Given the description of an element on the screen output the (x, y) to click on. 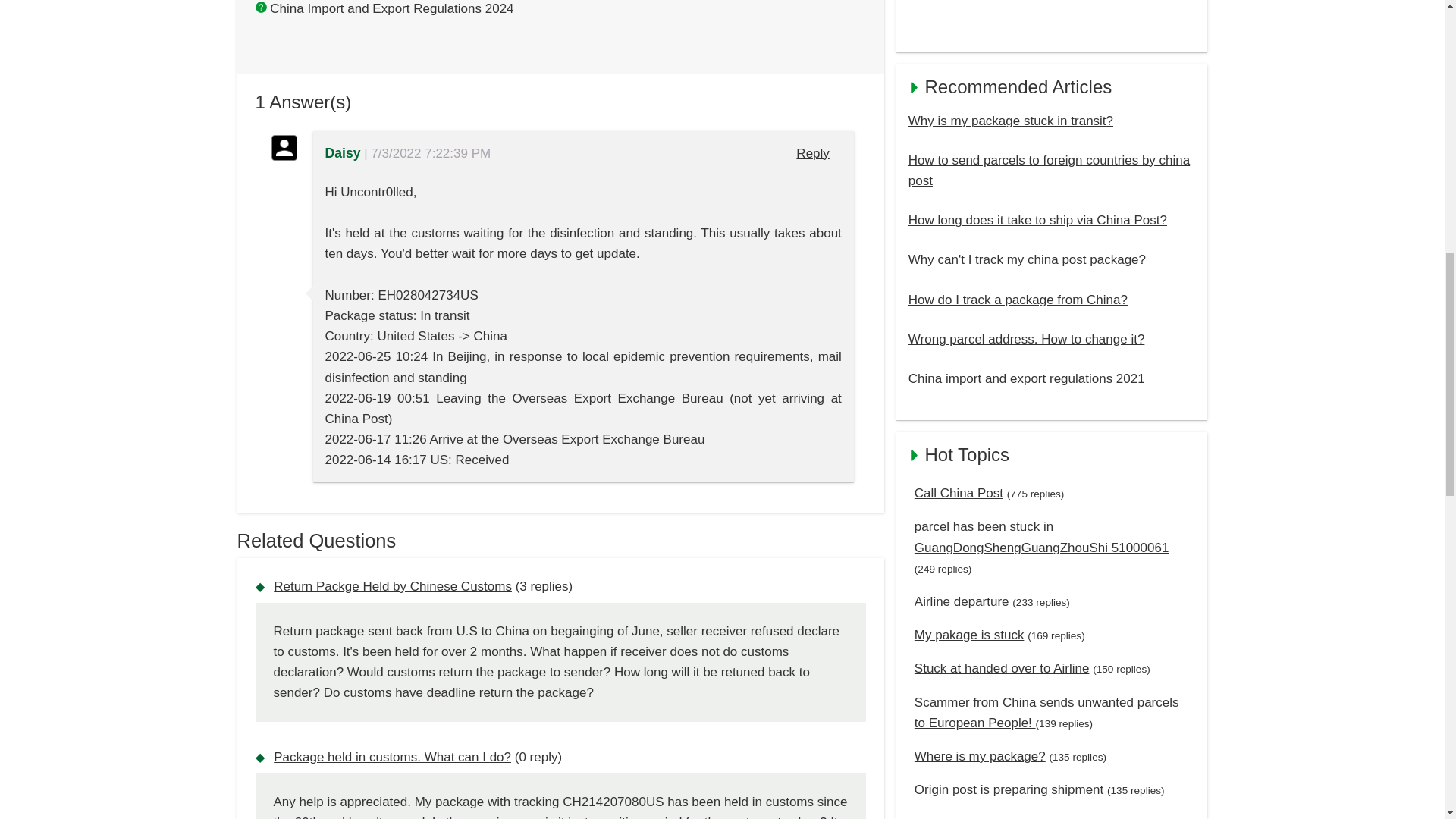
Return Packge Held by Chinese Customs (392, 586)
Return Packge Held by Chinese Customs (392, 586)
China Import and Export Regulations 2024 (391, 8)
Advertisement (1051, 20)
Reply (812, 153)
Package held in customs. What can I do? (392, 757)
Package held in customs. What can I do? (392, 757)
Call China Post (958, 493)
China Import and Export Regulations 2024 (391, 8)
